Given the description of an element on the screen output the (x, y) to click on. 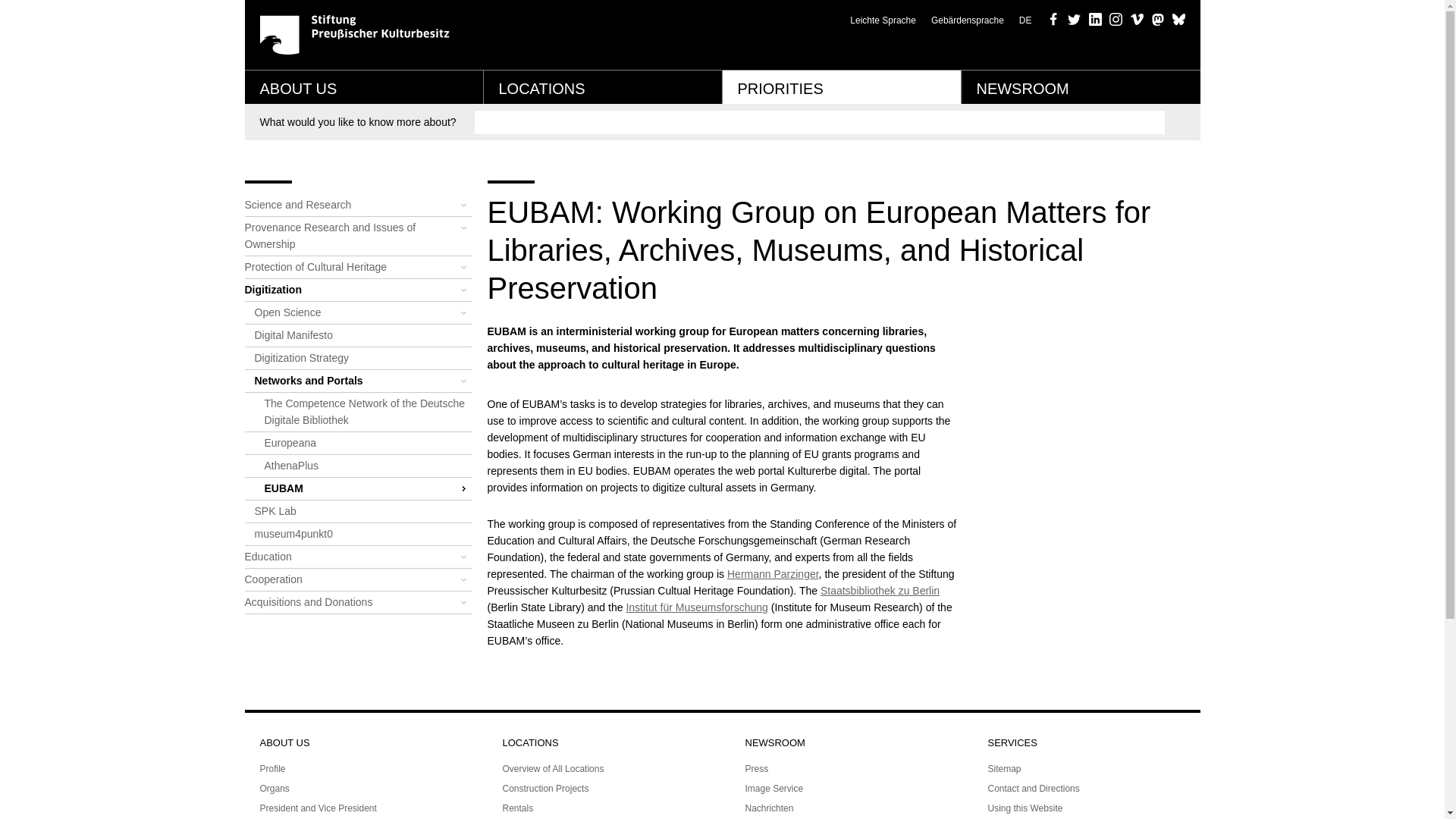
Bluesky (1178, 19)
SPK auf LinkedIn (1095, 19)
Instagram (1115, 19)
Facebook (1052, 19)
SPK auf Mastodon (1157, 19)
Diese Seite auf Deutsch (1025, 20)
SPK auf Vimeo (1135, 19)
NEWSROOM (1079, 87)
Twitter (1073, 19)
LinkedIn (1095, 19)
